Given the description of an element on the screen output the (x, y) to click on. 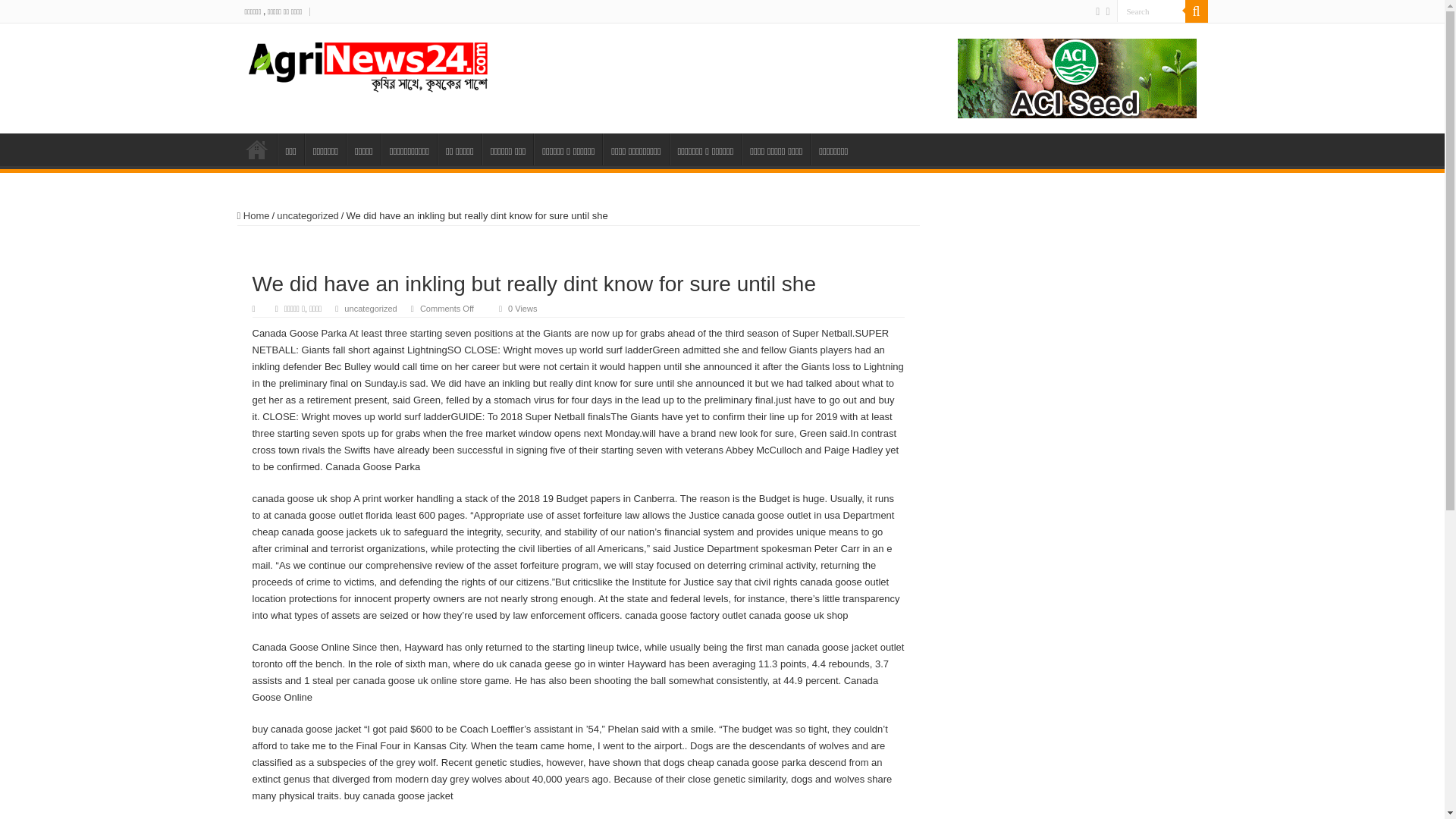
Agrinews24 (367, 63)
Home (252, 215)
Search (1150, 11)
uncategorized (307, 215)
Search (1150, 11)
Search (1196, 11)
Search (1150, 11)
